Given the description of an element on the screen output the (x, y) to click on. 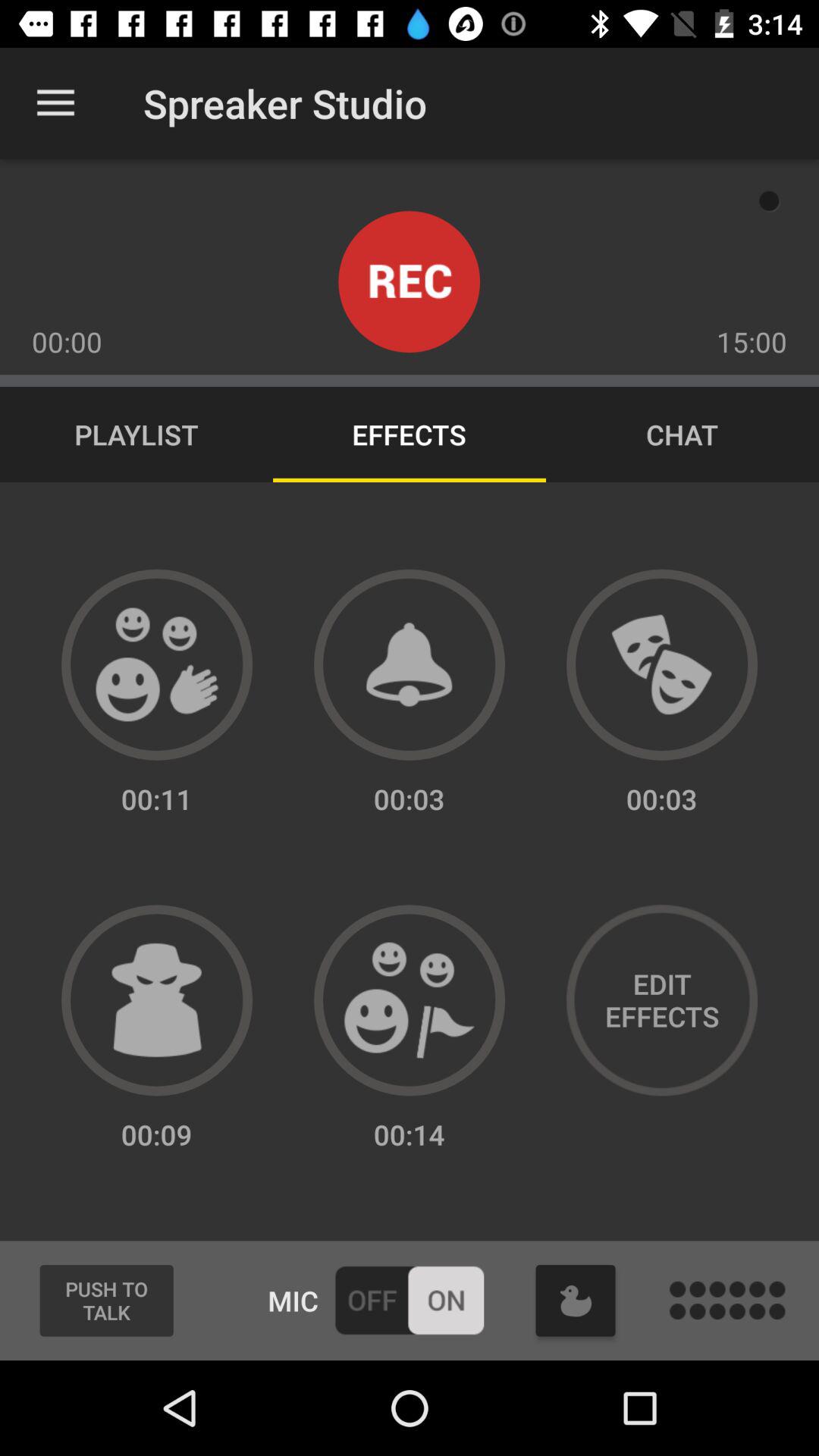
toggle mic on or off (409, 1300)
